Given the description of an element on the screen output the (x, y) to click on. 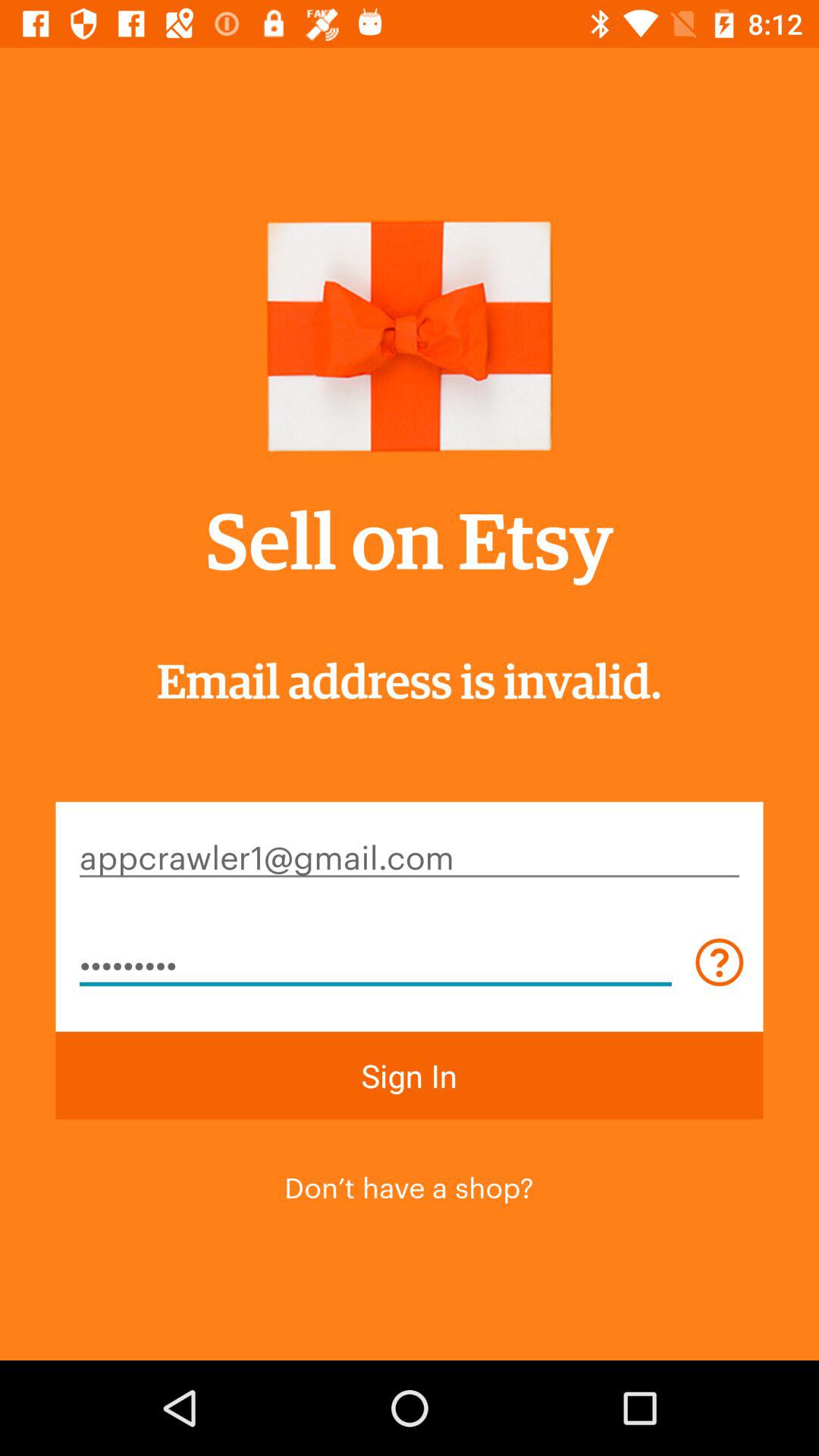
choose item below the appcrawler1@gmail.com icon (375, 961)
